Given the description of an element on the screen output the (x, y) to click on. 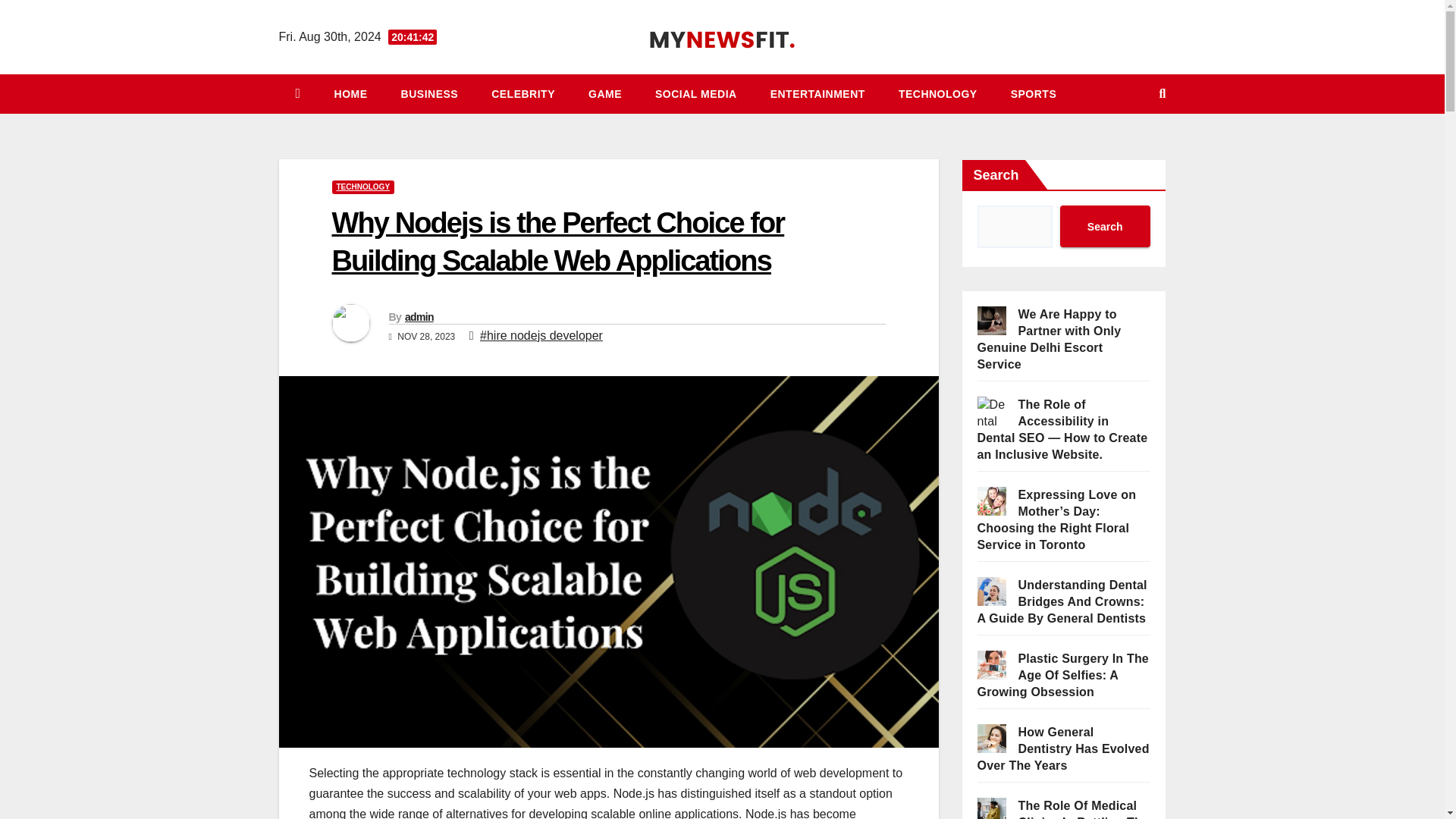
ENTERTAINMENT (818, 93)
Social Media (696, 93)
GAME (605, 93)
SPORTS (1034, 93)
Sports (1034, 93)
SOCIAL MEDIA (696, 93)
BUSINESS (430, 93)
Technology (938, 93)
Game (605, 93)
